Given the description of an element on the screen output the (x, y) to click on. 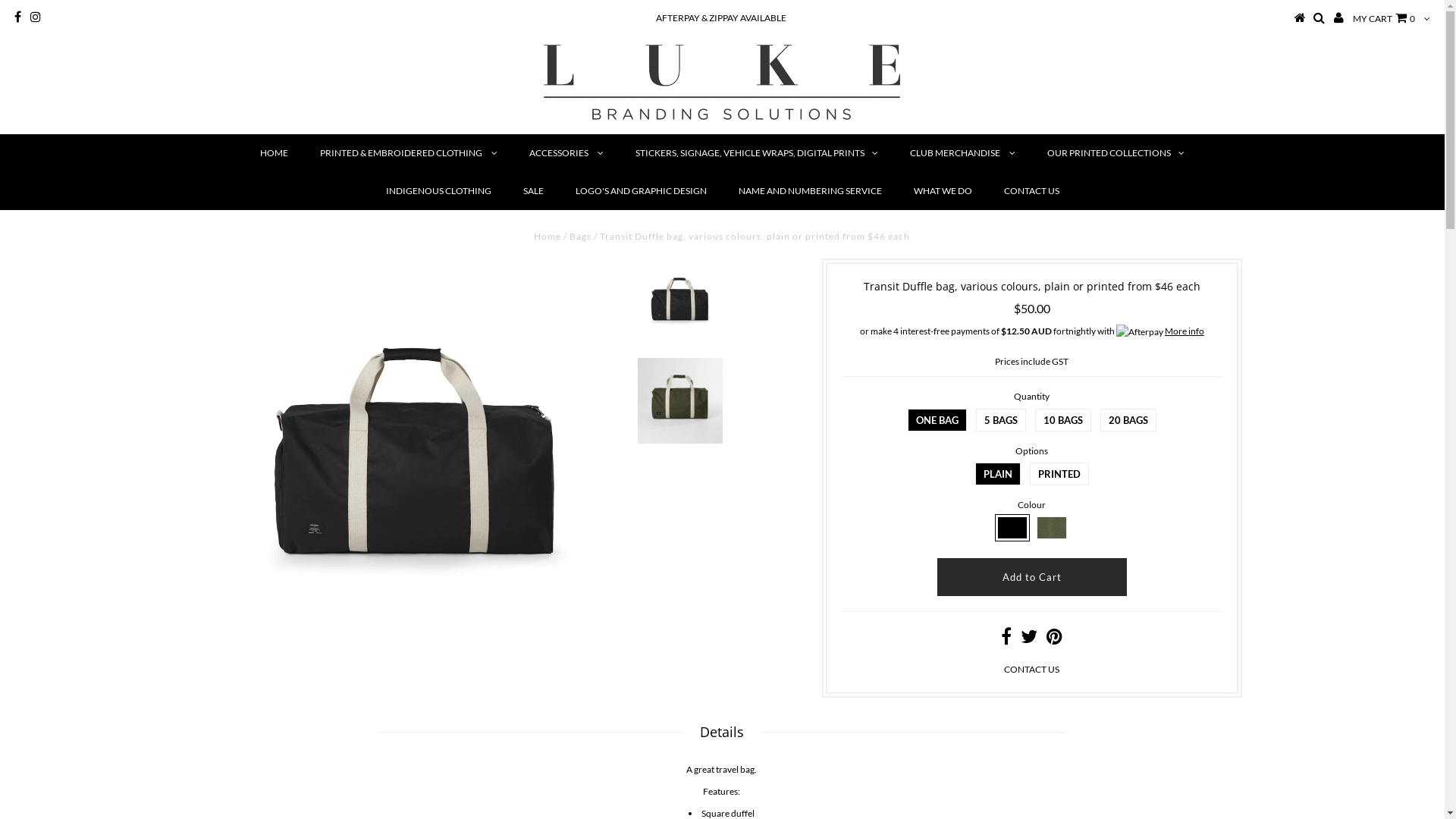
More info Element type: text (1160, 331)
Share on Pinterest Element type: hover (1054, 639)
CONTACT US Element type: text (1031, 191)
OUR PRINTED COLLECTIONS Element type: text (1115, 153)
WHAT WE DO Element type: text (941, 191)
SALE Element type: text (533, 191)
Share on Facebook Element type: hover (1006, 639)
Share on Twitter Element type: hover (1028, 639)
ACCESSORIES Element type: text (566, 153)
Bags Element type: text (580, 235)
CLUB MERCHANDISE Element type: text (962, 153)
MY CART    0 Element type: text (1383, 18)
LOGO'S AND GRAPHIC DESIGN Element type: text (640, 191)
INDIGENOUS CLOTHING Element type: text (437, 191)
CONTACT US Element type: text (1031, 668)
Add to Cart Element type: text (1031, 577)
HOME Element type: text (273, 153)
Home Element type: text (547, 235)
STICKERS, SIGNAGE, VEHICLE WRAPS, DIGITAL PRINTS Element type: text (756, 153)
PRINTED & EMBROIDERED CLOTHING Element type: text (408, 153)
NAME AND NUMBERING SERVICE Element type: text (810, 191)
